Given the description of an element on the screen output the (x, y) to click on. 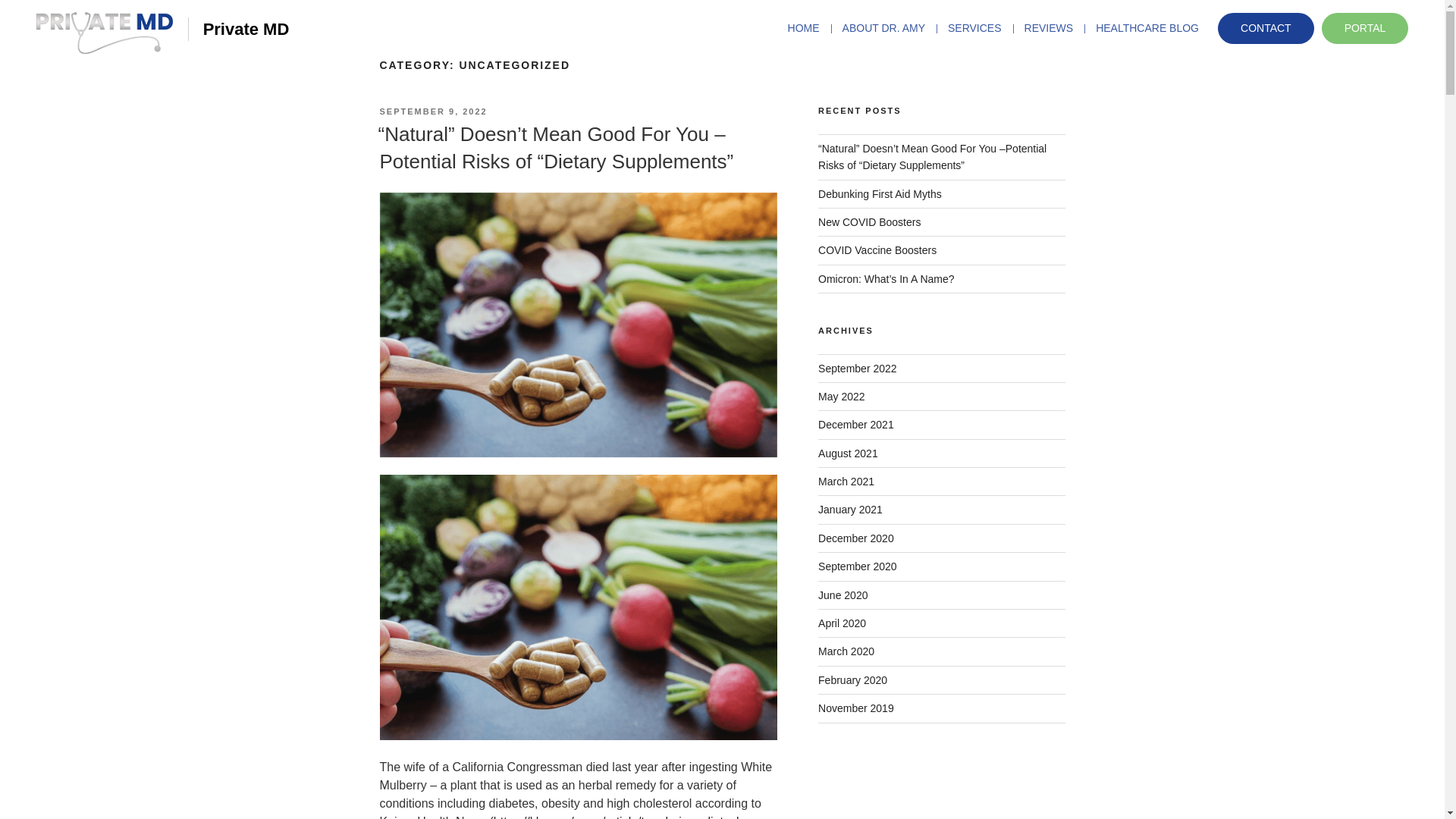
REVIEWS (1048, 28)
CONTACT (1265, 28)
HOME (809, 28)
HEALTHCARE BLOG (1146, 28)
SERVICES (974, 28)
New COVID Boosters (869, 222)
SEPTEMBER 9, 2022 (432, 111)
Debunking First Aid Myths (880, 193)
ABOUT DR. AMY (883, 28)
September 2022 (857, 368)
